Given the description of an element on the screen output the (x, y) to click on. 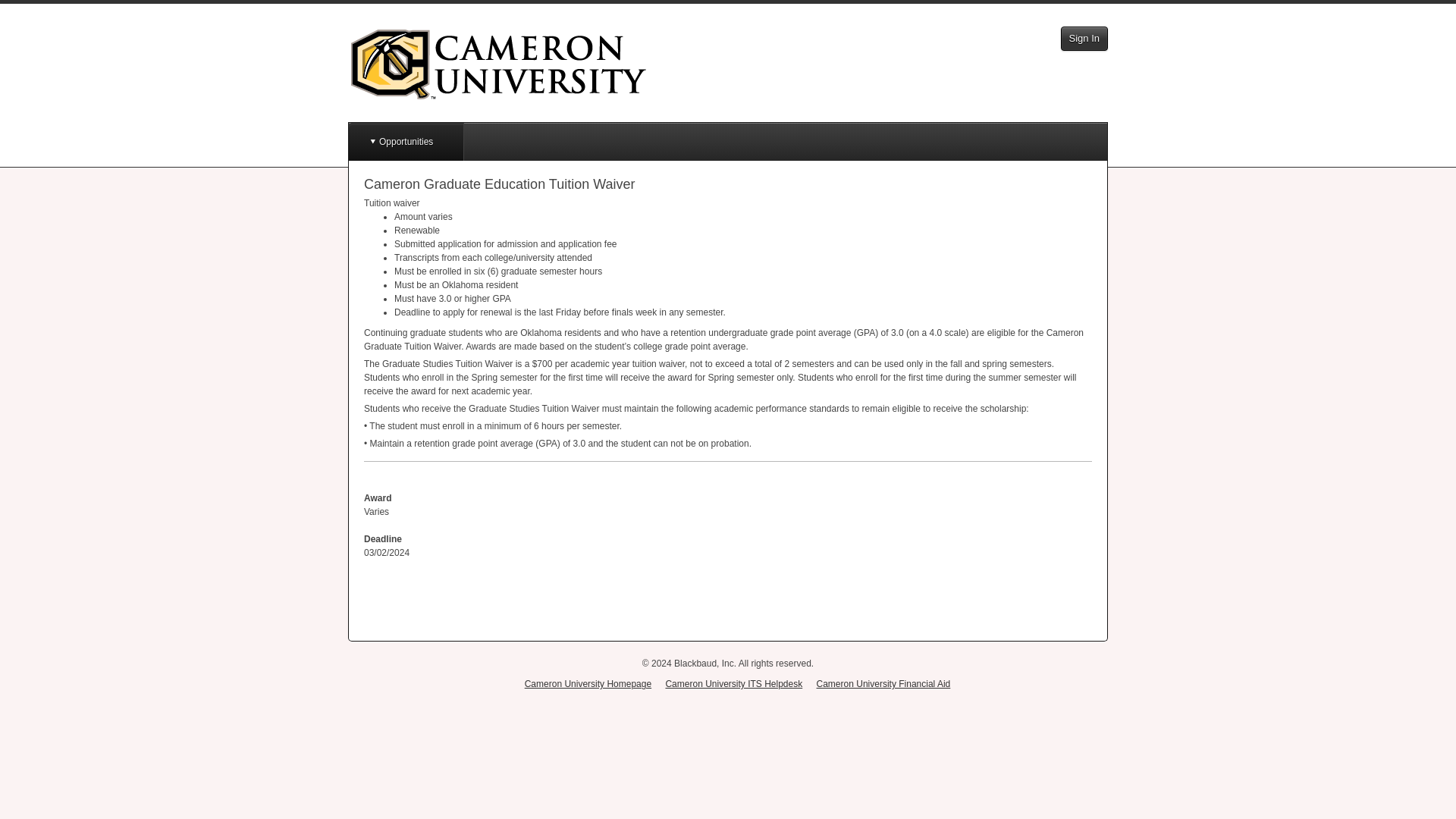
Opportunities (406, 141)
Cameron University Homepage (587, 683)
Cameron University Financial Aid (883, 683)
Sign In (1084, 38)
Cameron University ITS Helpdesk (733, 683)
Cameron University Scholarships (497, 64)
